Given the description of an element on the screen output the (x, y) to click on. 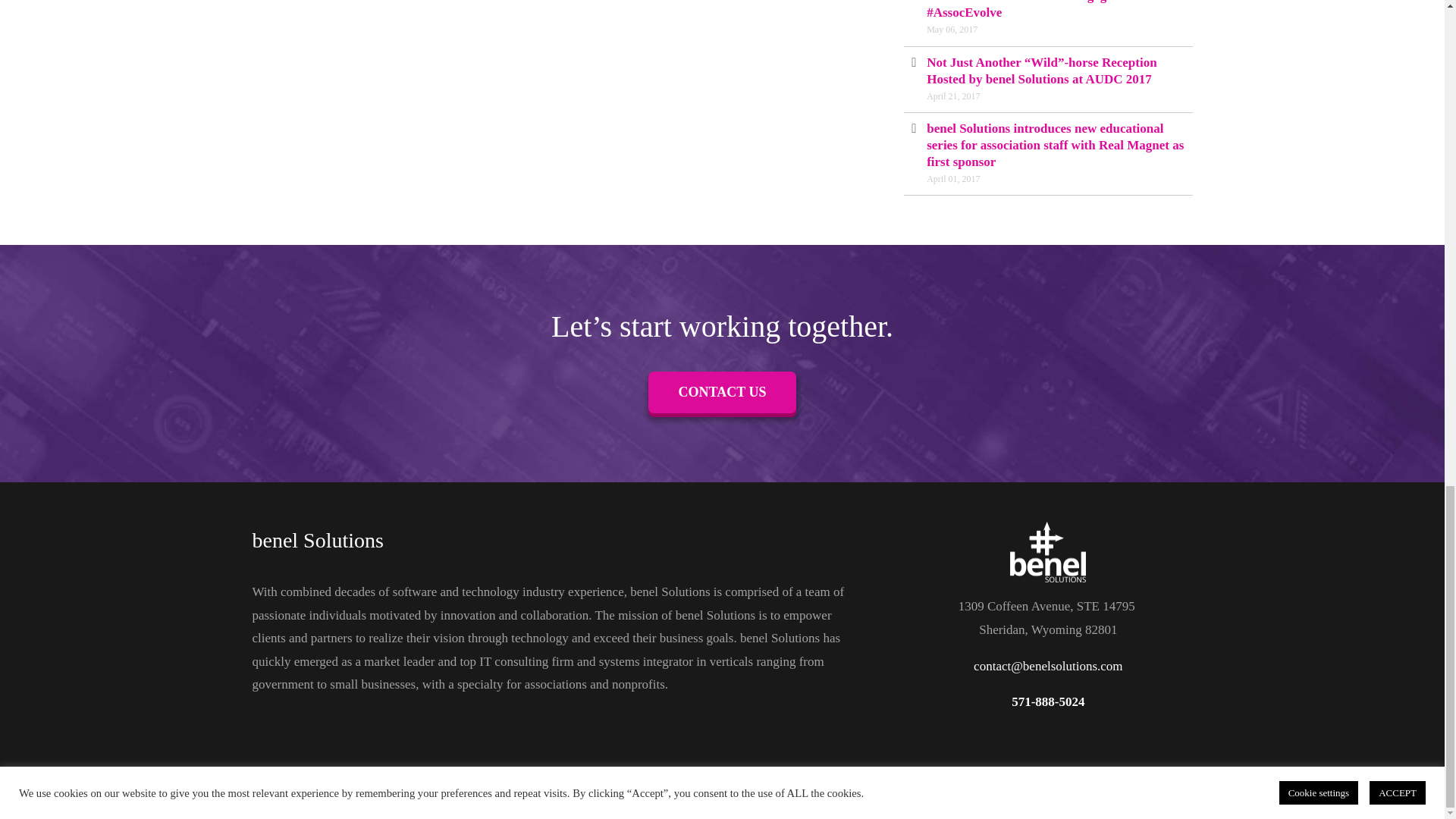
571-888-5024 (1047, 701)
CONTACT US (721, 392)
